Given the description of an element on the screen output the (x, y) to click on. 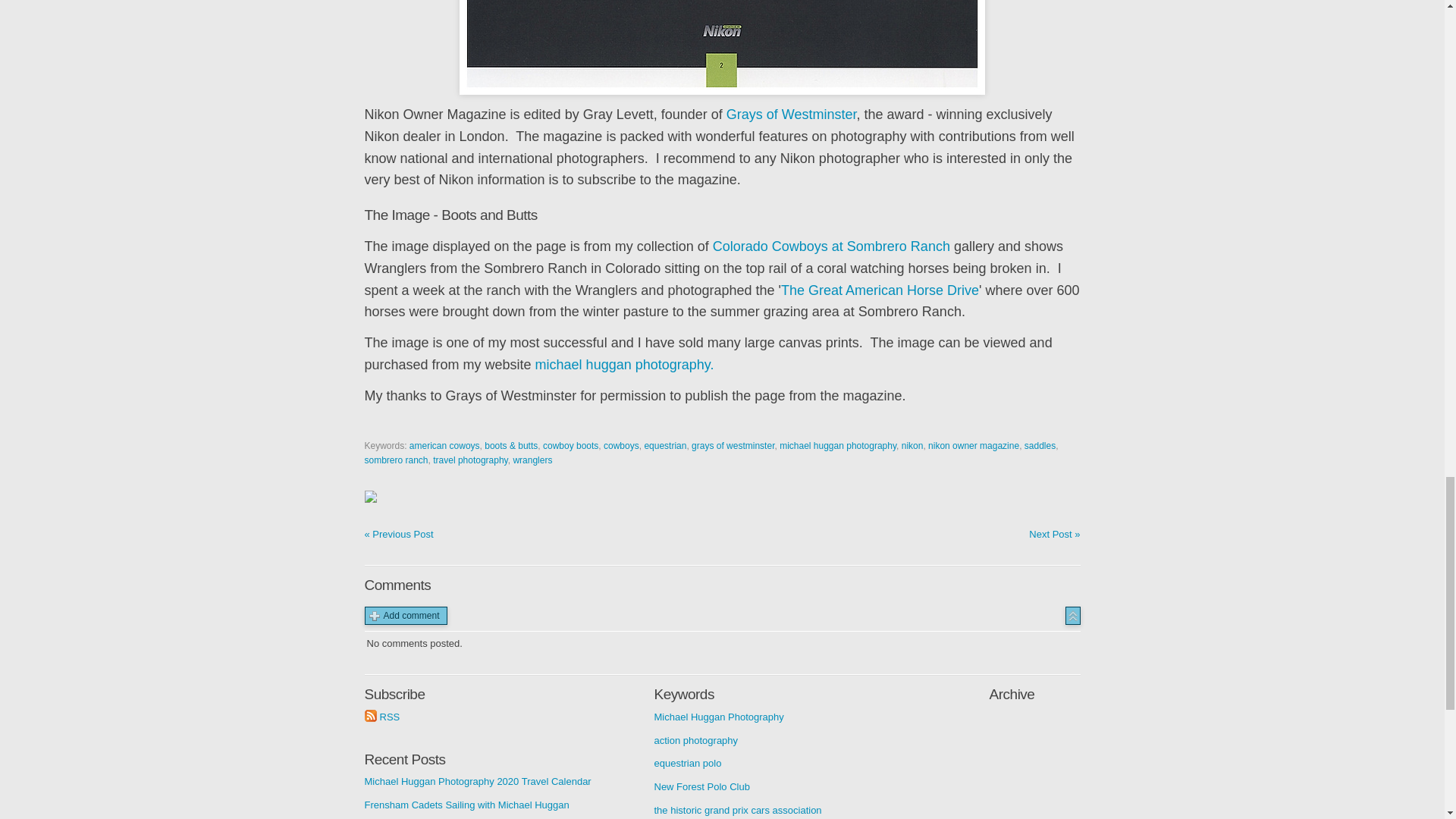
The Great American Horse Drive (879, 290)
Go to the top of the page (1072, 615)
michael huggan photography (837, 445)
equestrian (664, 445)
saddles (1040, 445)
cowboy boots (570, 445)
nikon owner magazine (973, 445)
Colorado Cowboys at Sombrero Ranch (831, 246)
michael huggan photography. (624, 364)
american cowoys (444, 445)
Grays of Westminster (791, 114)
grays of westminster (732, 445)
nikon (912, 445)
cowboys (621, 445)
